Given the description of an element on the screen output the (x, y) to click on. 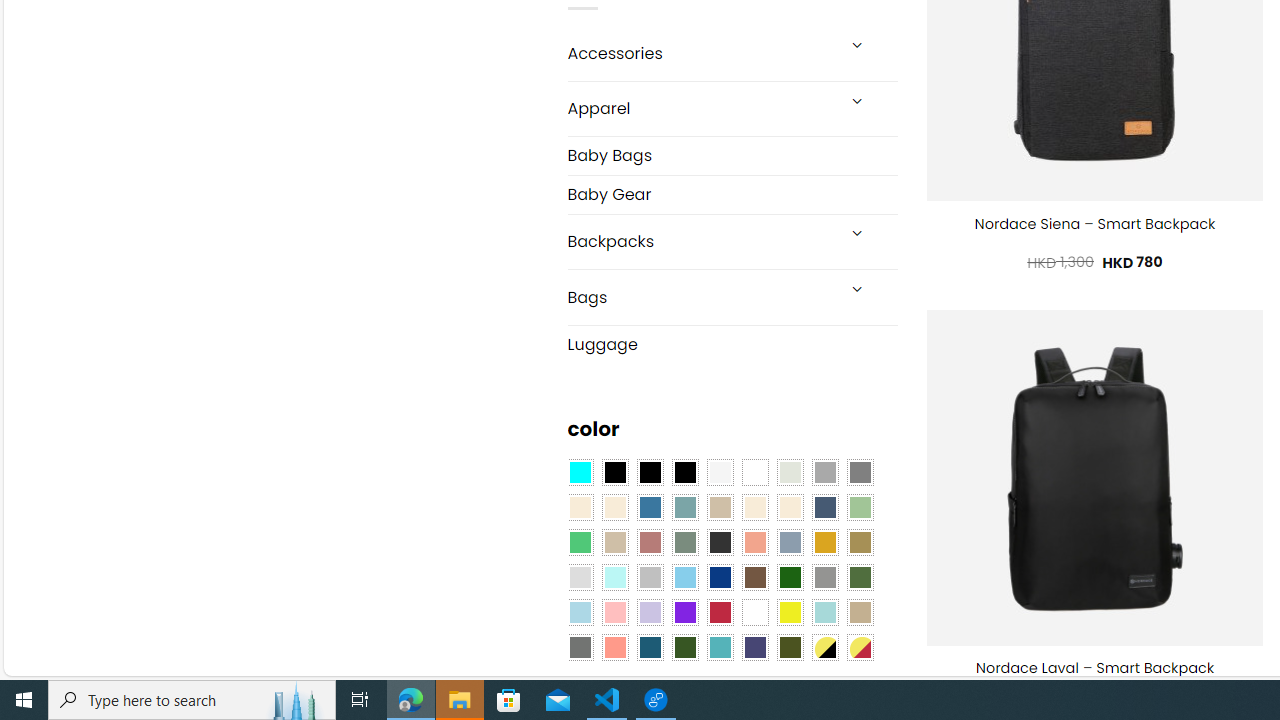
Brownie (719, 508)
Khaki (859, 612)
Kelp (859, 542)
Emerald Green (579, 542)
Blue (650, 508)
Apparel (700, 109)
Beige-Brown (614, 508)
Yellow-Black (824, 647)
Accessories (700, 52)
Aqua Blue (579, 473)
Cream (789, 508)
Pearly White (719, 473)
